Given the description of an element on the screen output the (x, y) to click on. 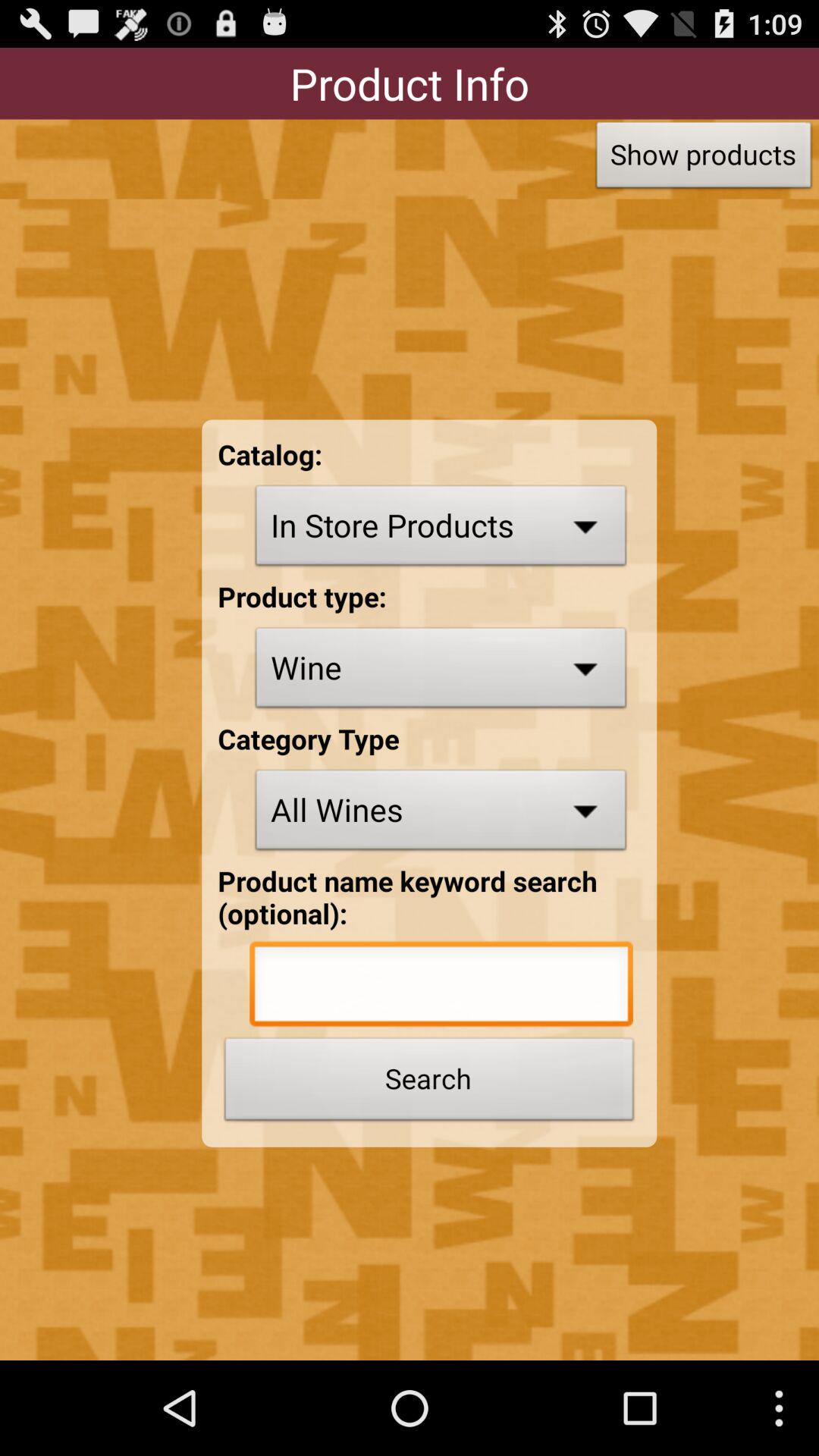
product name (441, 987)
